Given the description of an element on the screen output the (x, y) to click on. 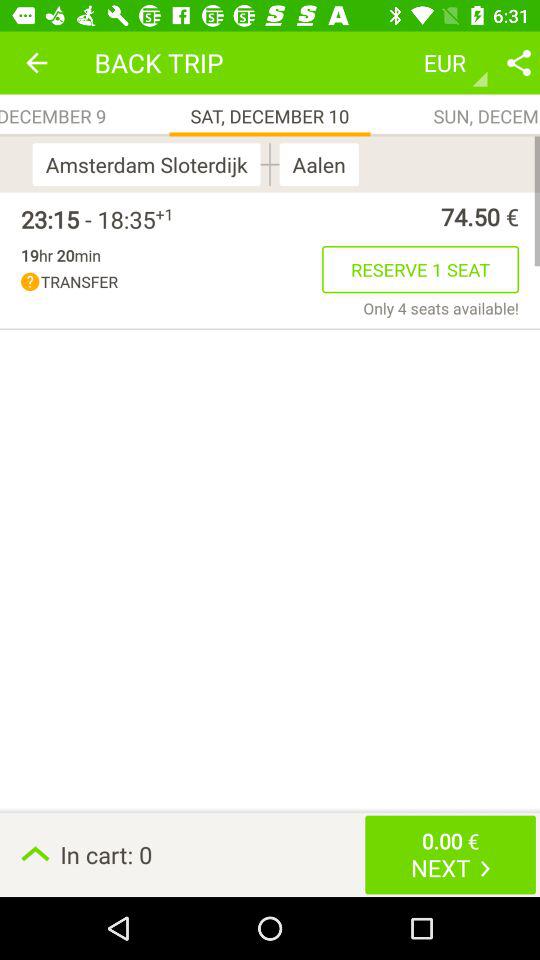
turn off the item above only 4 seats (420, 269)
